Given the description of an element on the screen output the (x, y) to click on. 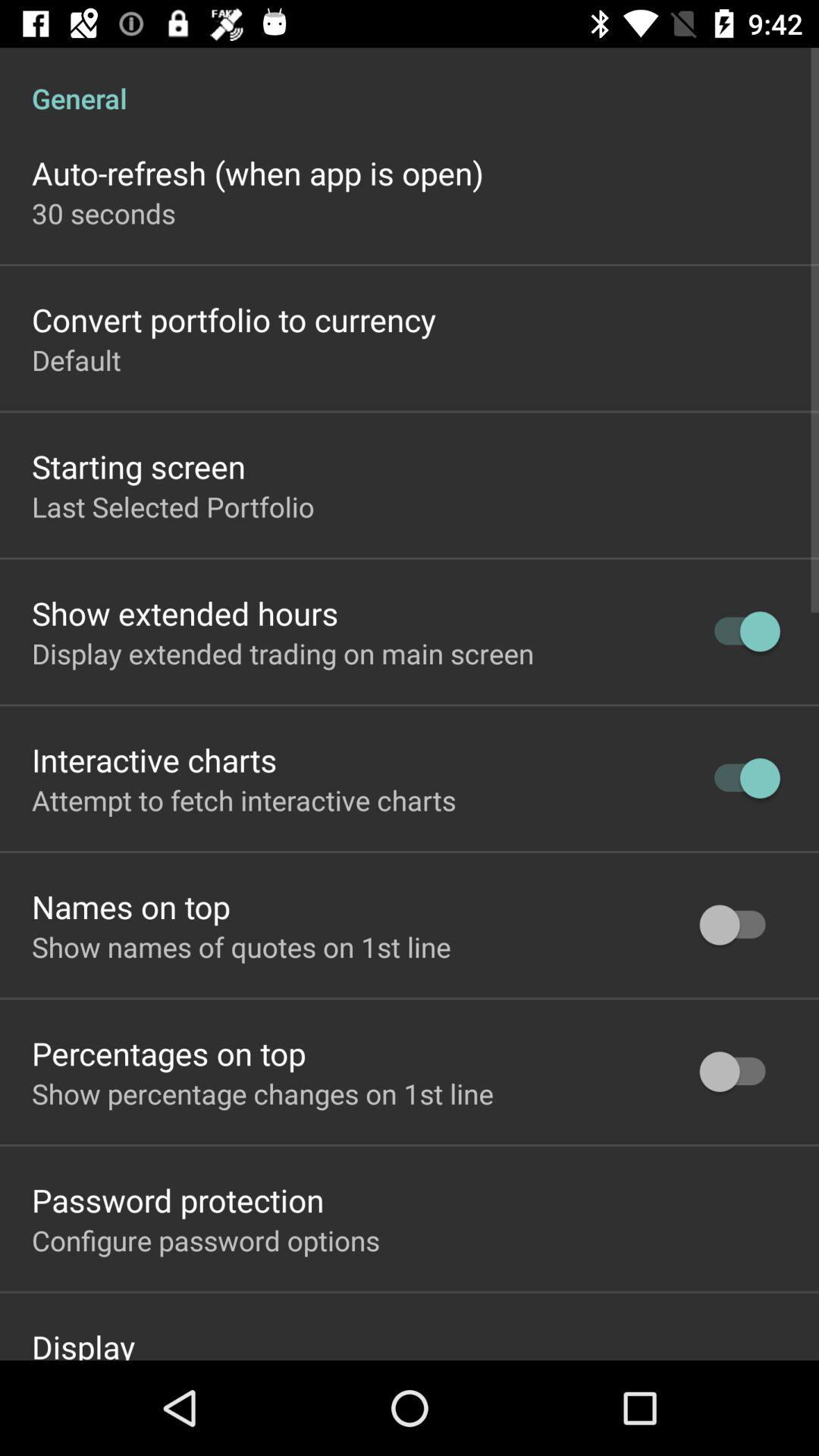
jump to the attempt to fetch (243, 800)
